Given the description of an element on the screen output the (x, y) to click on. 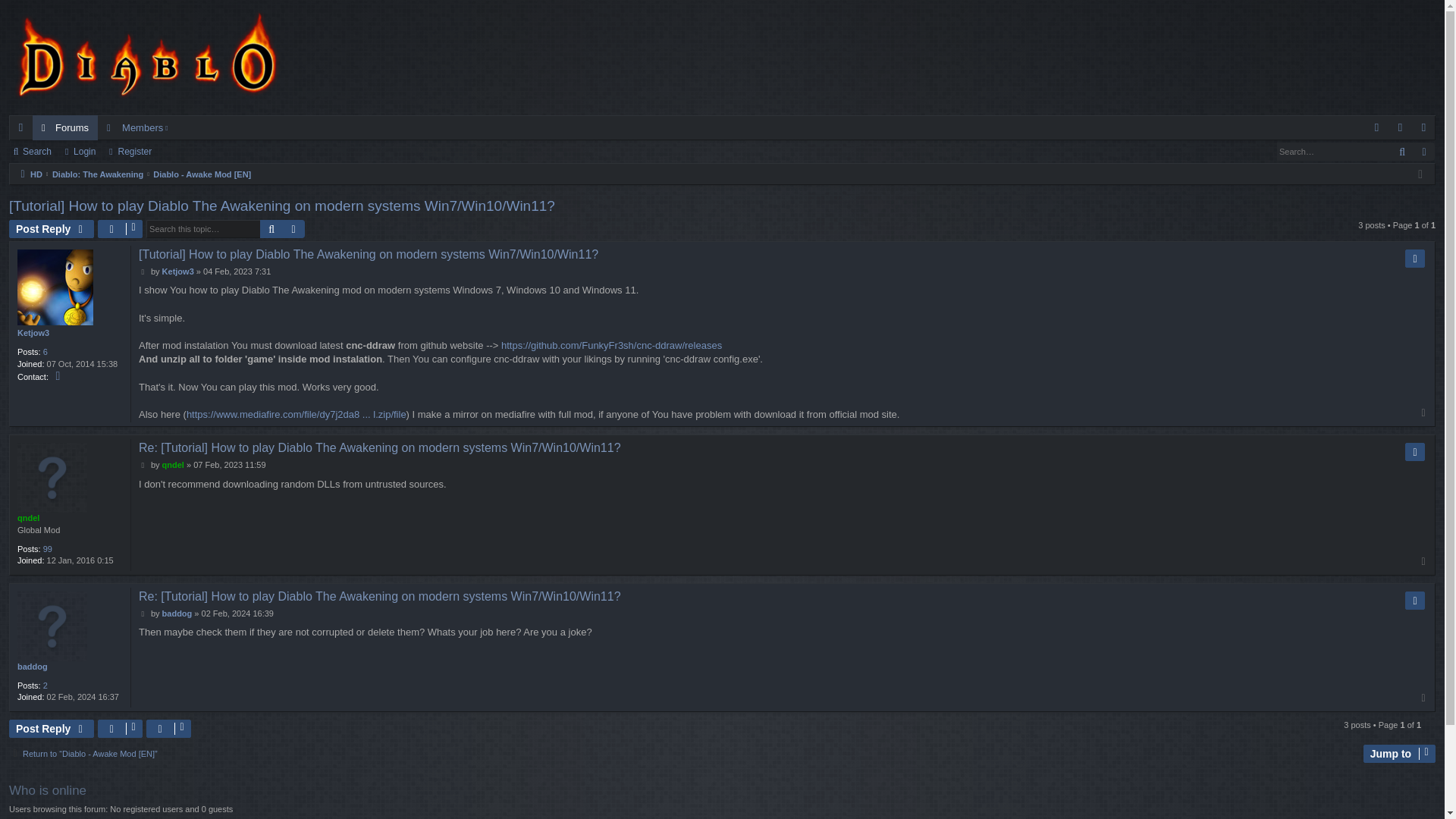
Quick links (20, 127)
FAQ (1377, 127)
Search (271, 229)
Diablo: The Awakening (97, 174)
Search for keywords (1333, 151)
Members (138, 127)
Quick links (20, 127)
Post Reply (51, 229)
Register (1423, 127)
FAQ (1377, 127)
